Given the description of an element on the screen output the (x, y) to click on. 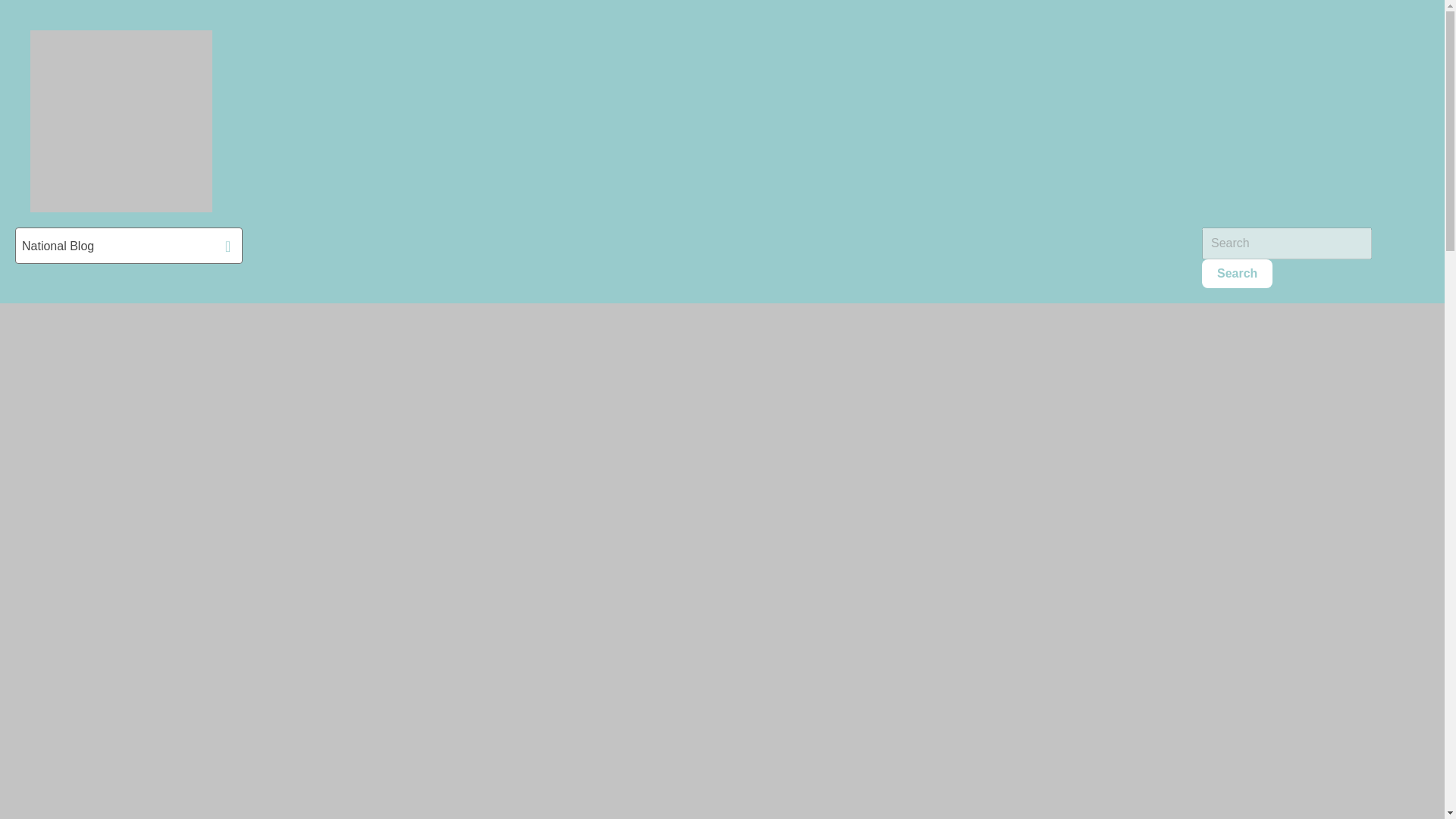
 National Blog  (128, 246)
Search (1237, 273)
